Given the description of an element on the screen output the (x, y) to click on. 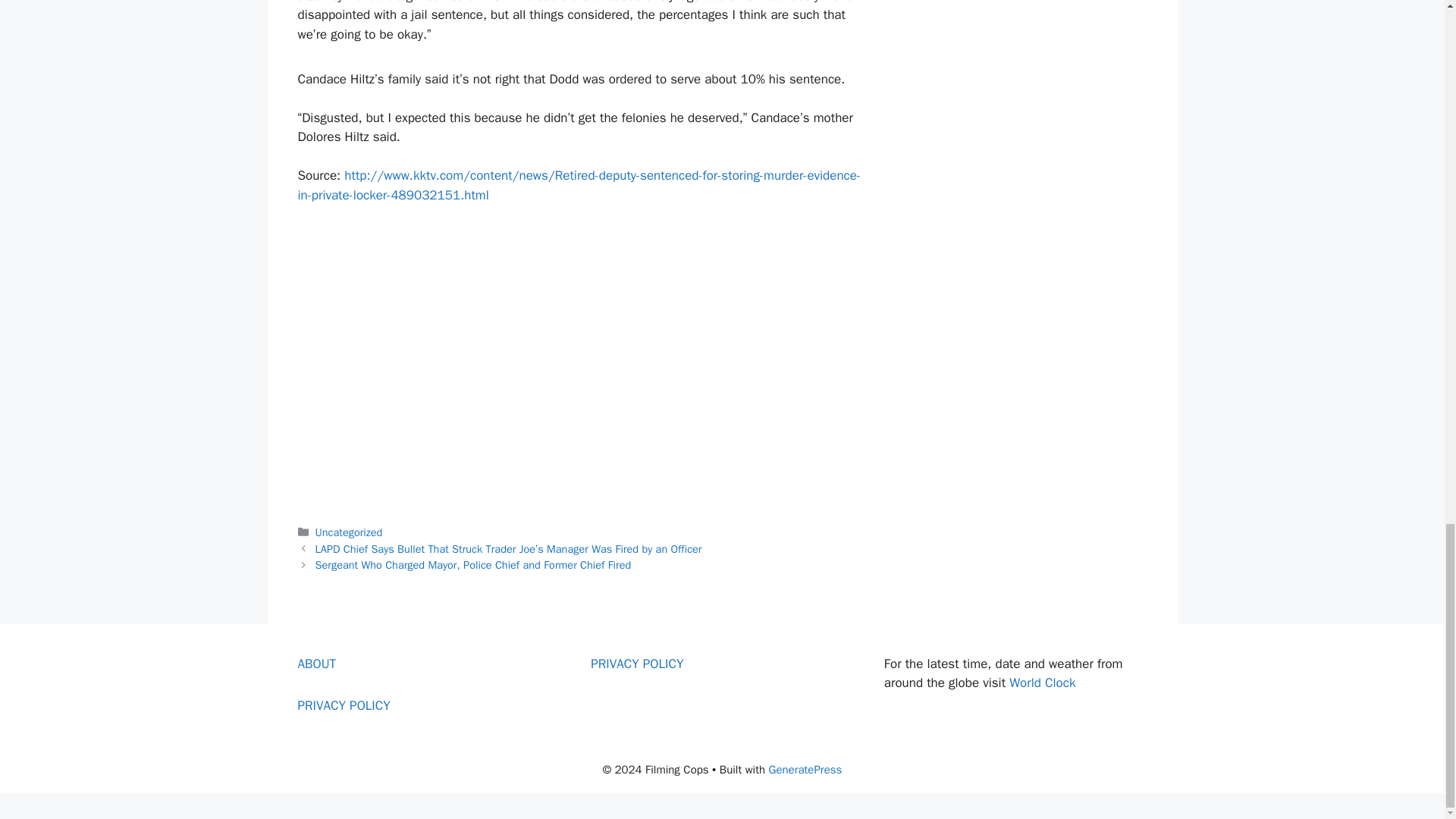
World Clock (1042, 682)
Uncategorized (348, 531)
ABOUT (316, 663)
GeneratePress (805, 769)
PRIVACY POLICY (343, 705)
PRIVACY POLICY (636, 663)
